Given the description of an element on the screen output the (x, y) to click on. 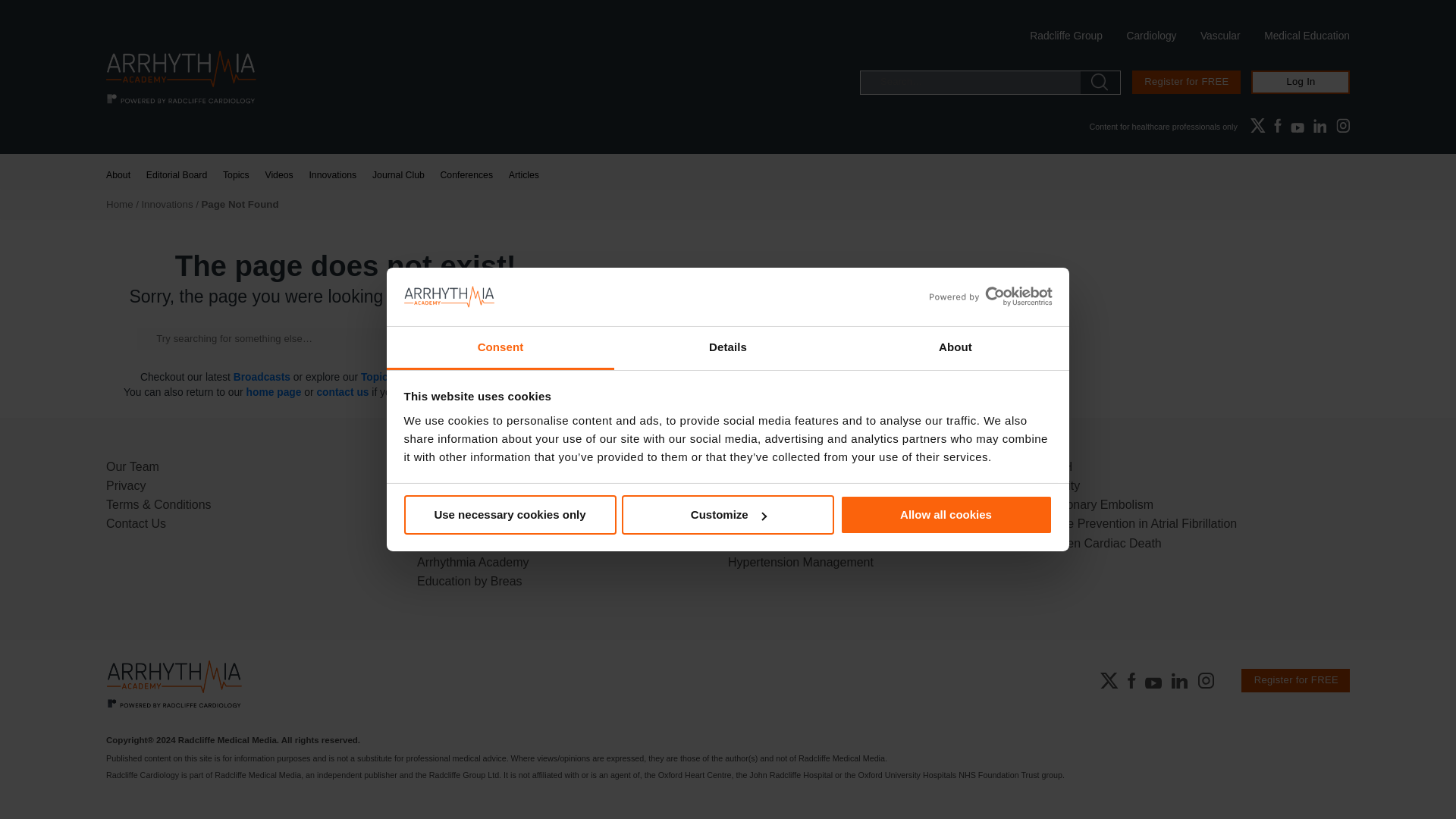
Details (727, 348)
Consent (500, 348)
About (954, 348)
